Given the description of an element on the screen output the (x, y) to click on. 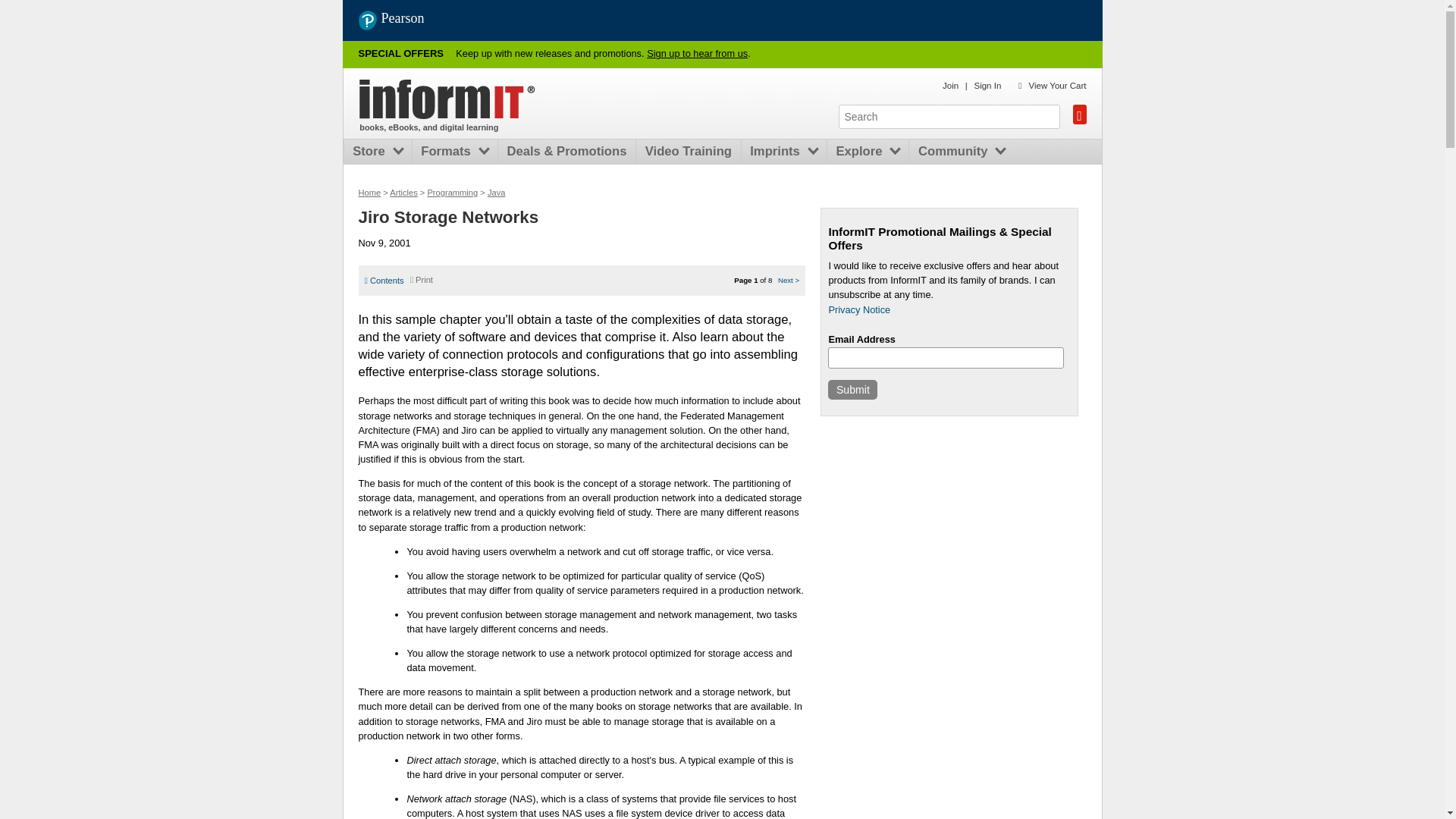
Programming (451, 192)
Java (496, 192)
Store (372, 151)
Sign In (987, 85)
Submit (852, 389)
Home (446, 98)
Join (950, 85)
Home (369, 192)
Privacy Notice (858, 309)
View Your Cart (1057, 85)
